Given the description of an element on the screen output the (x, y) to click on. 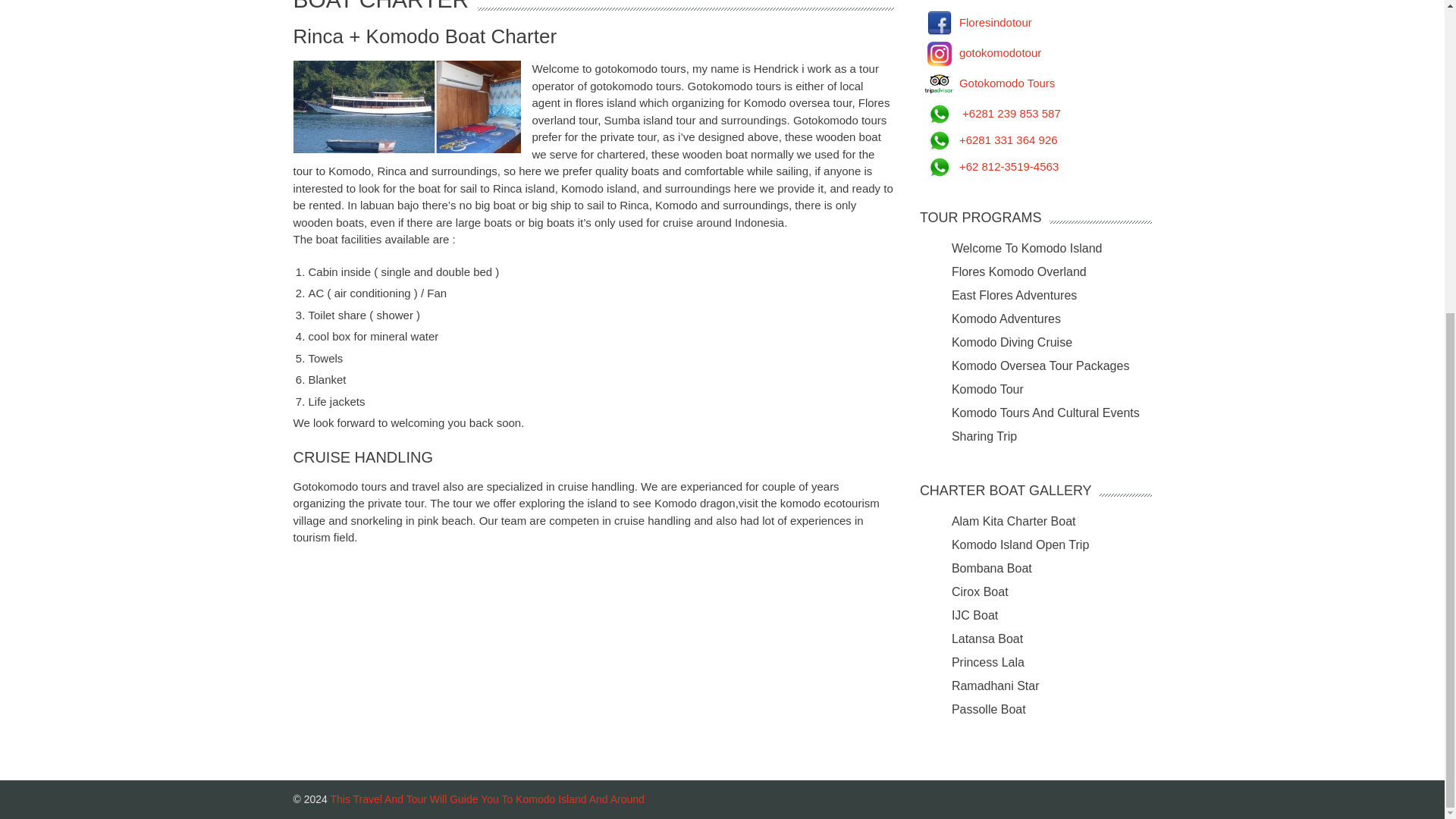
gotokomodotour (980, 51)
Komodo Diving Cruise (1011, 341)
Flores Komodo Overland (1019, 271)
Floresindotour (976, 21)
Komodo Adventures (1006, 318)
Gotokomodo Tours (987, 82)
Gotokomodo Tours (987, 82)
gotokomodotour (980, 51)
East Flores Adventures (1014, 294)
Welcome To Komodo Island (1027, 246)
Floresindotour (976, 21)
